Given the description of an element on the screen output the (x, y) to click on. 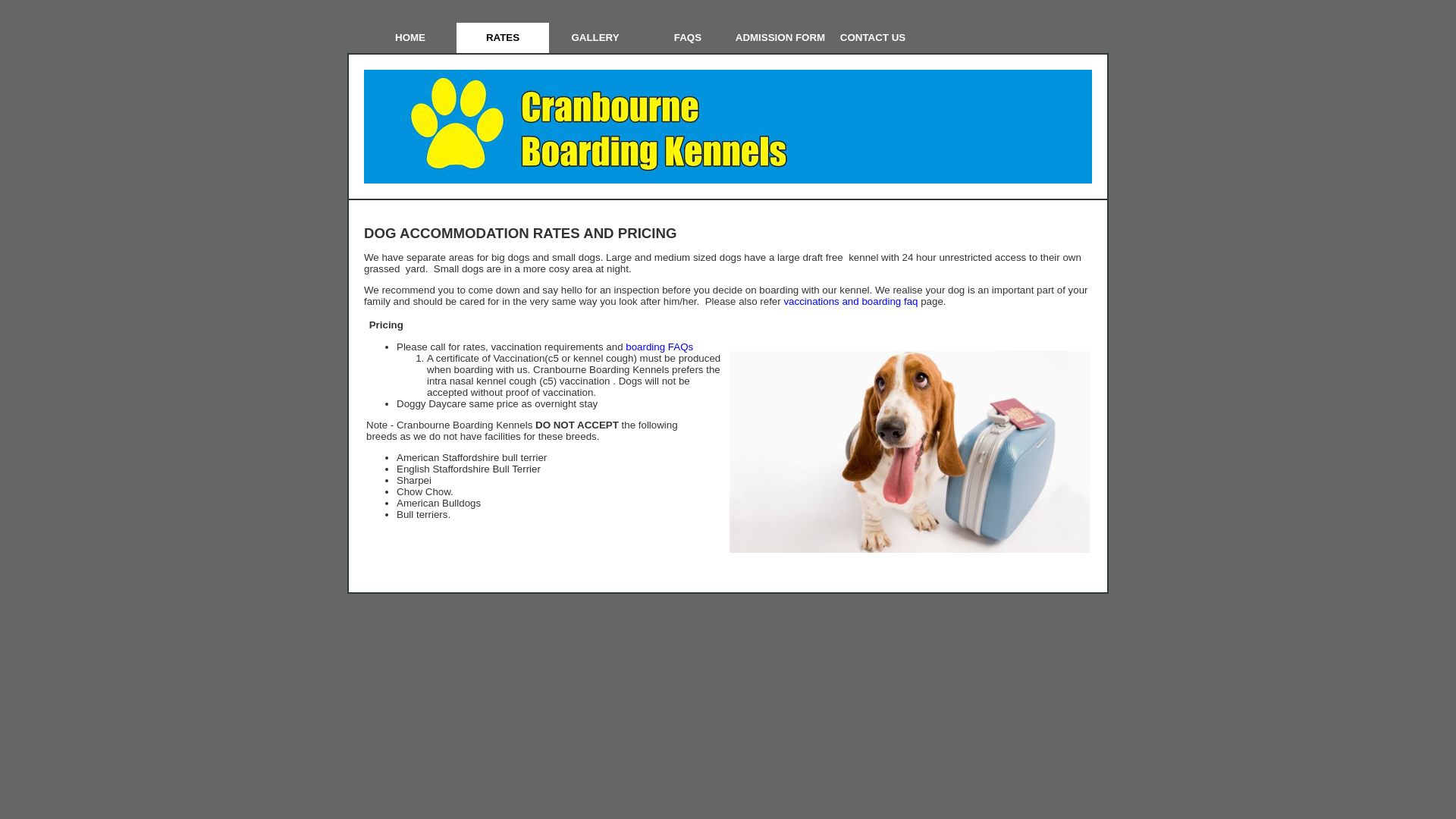
RATES Element type: text (502, 37)
CONTACT US Element type: text (872, 37)
HOME Element type: text (410, 37)
vaccinations and boarding faq Element type: text (850, 301)
GALLERY Element type: text (595, 37)
ADMISSION FORM Element type: text (780, 37)
FAQS Element type: text (687, 37)
boarding FAQs Element type: text (659, 346)
